Given the description of an element on the screen output the (x, y) to click on. 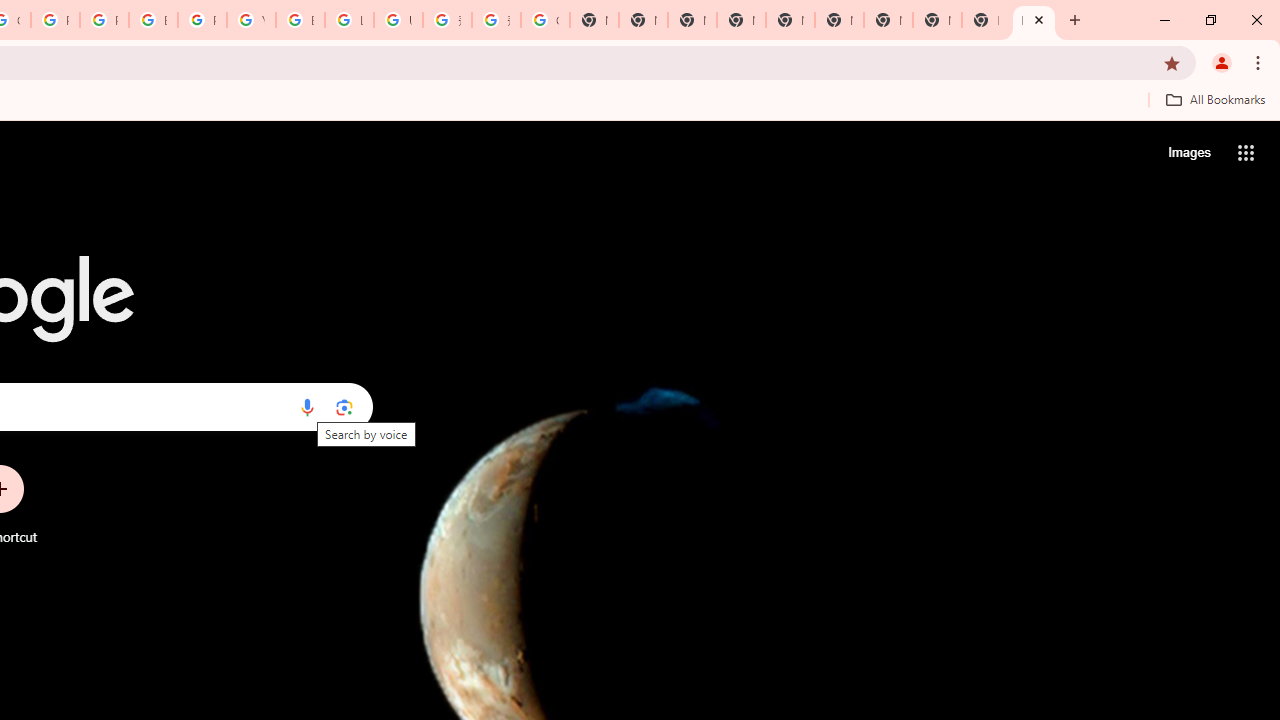
YouTube (251, 20)
